Given the description of an element on the screen output the (x, y) to click on. 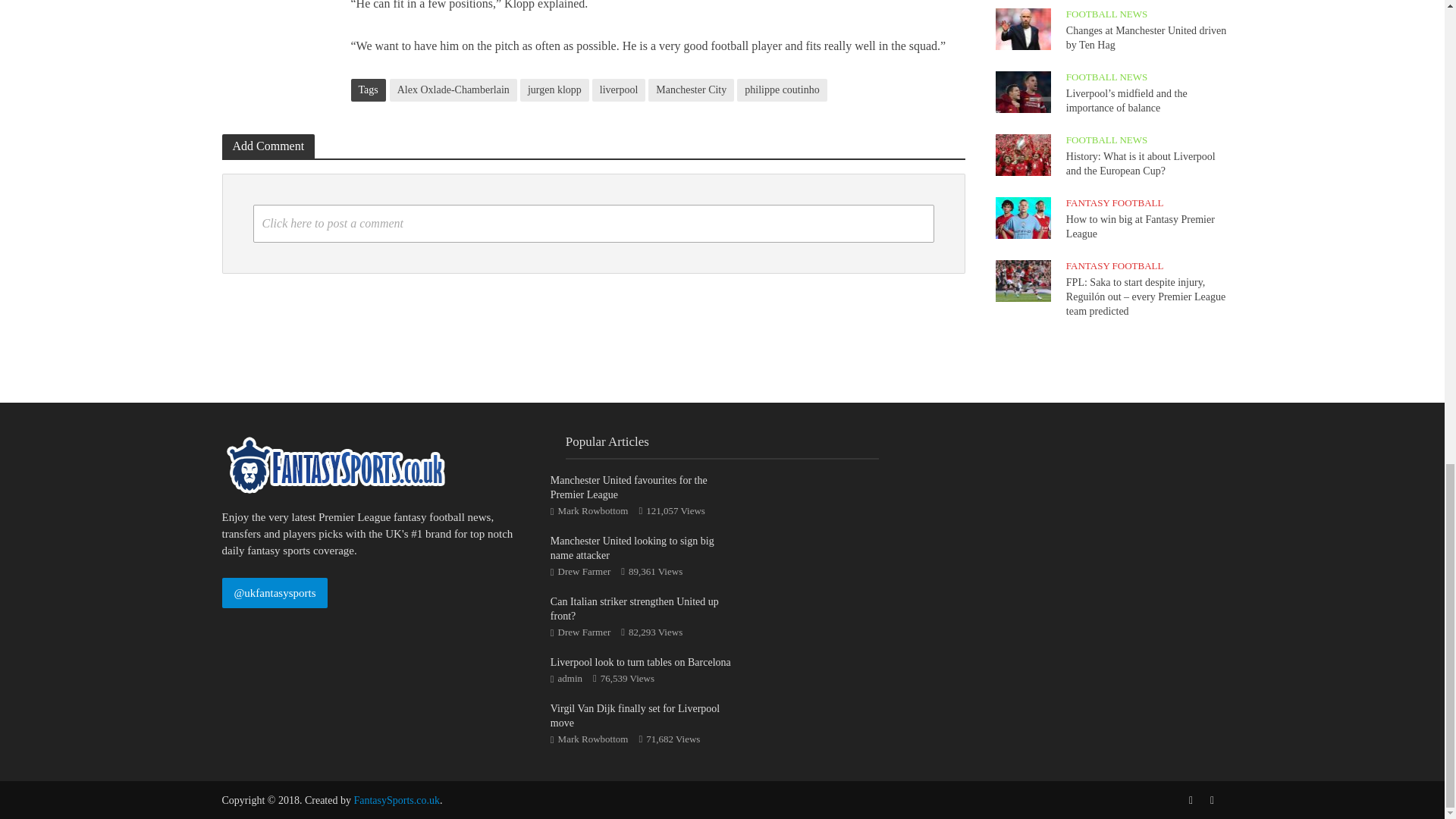
Changes at Manchester United driven by Ten Hag (1021, 28)
